Given the description of an element on the screen output the (x, y) to click on. 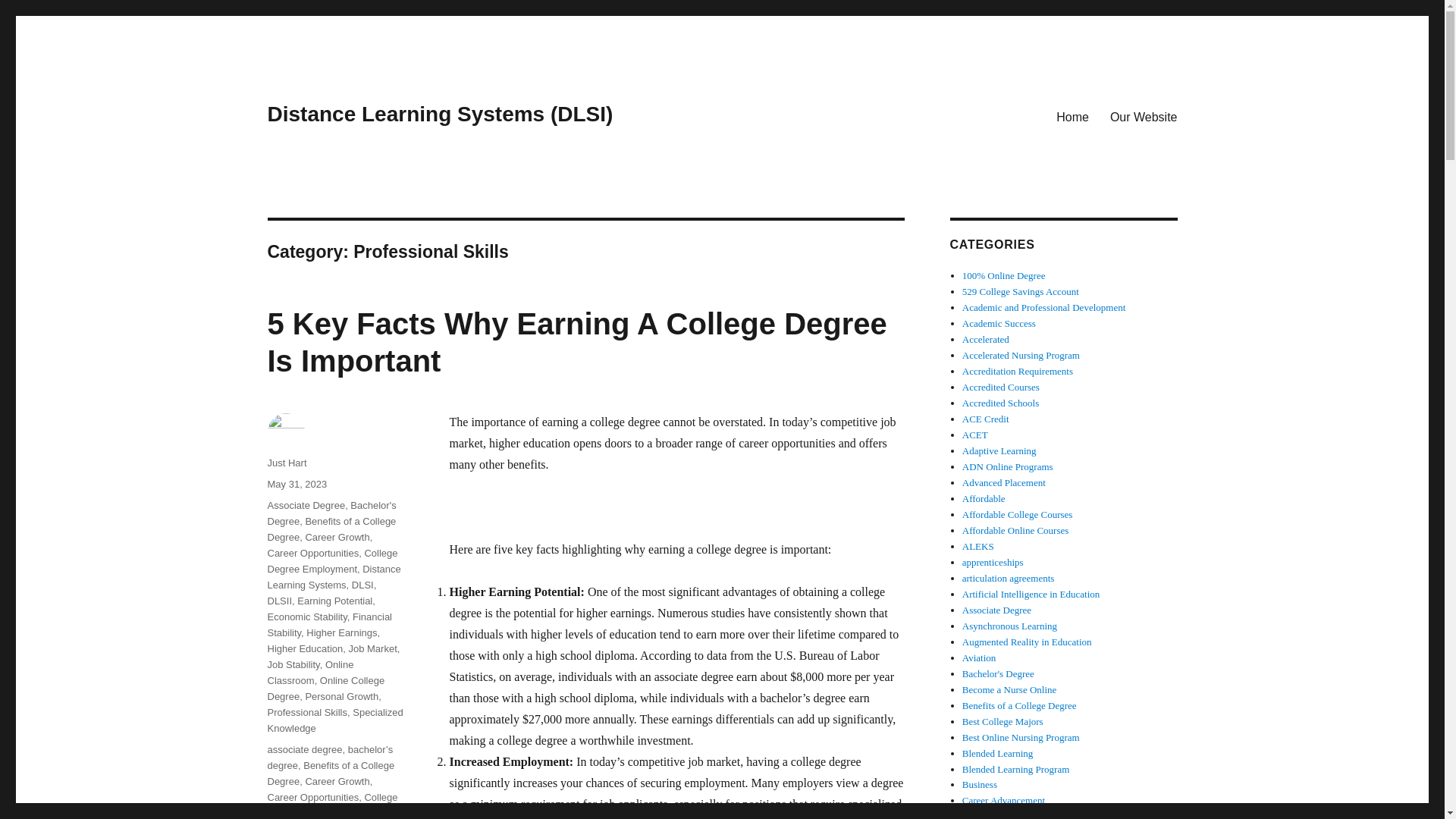
Economic Stability (306, 616)
Higher Earnings (341, 632)
Associate Degree (305, 505)
Home (1072, 116)
College Degree Employment (331, 560)
Specialized Knowledge (334, 719)
Financial Stability (328, 624)
associate degree (304, 749)
Just Hart (285, 462)
Earning Potential (334, 600)
